Given the description of an element on the screen output the (x, y) to click on. 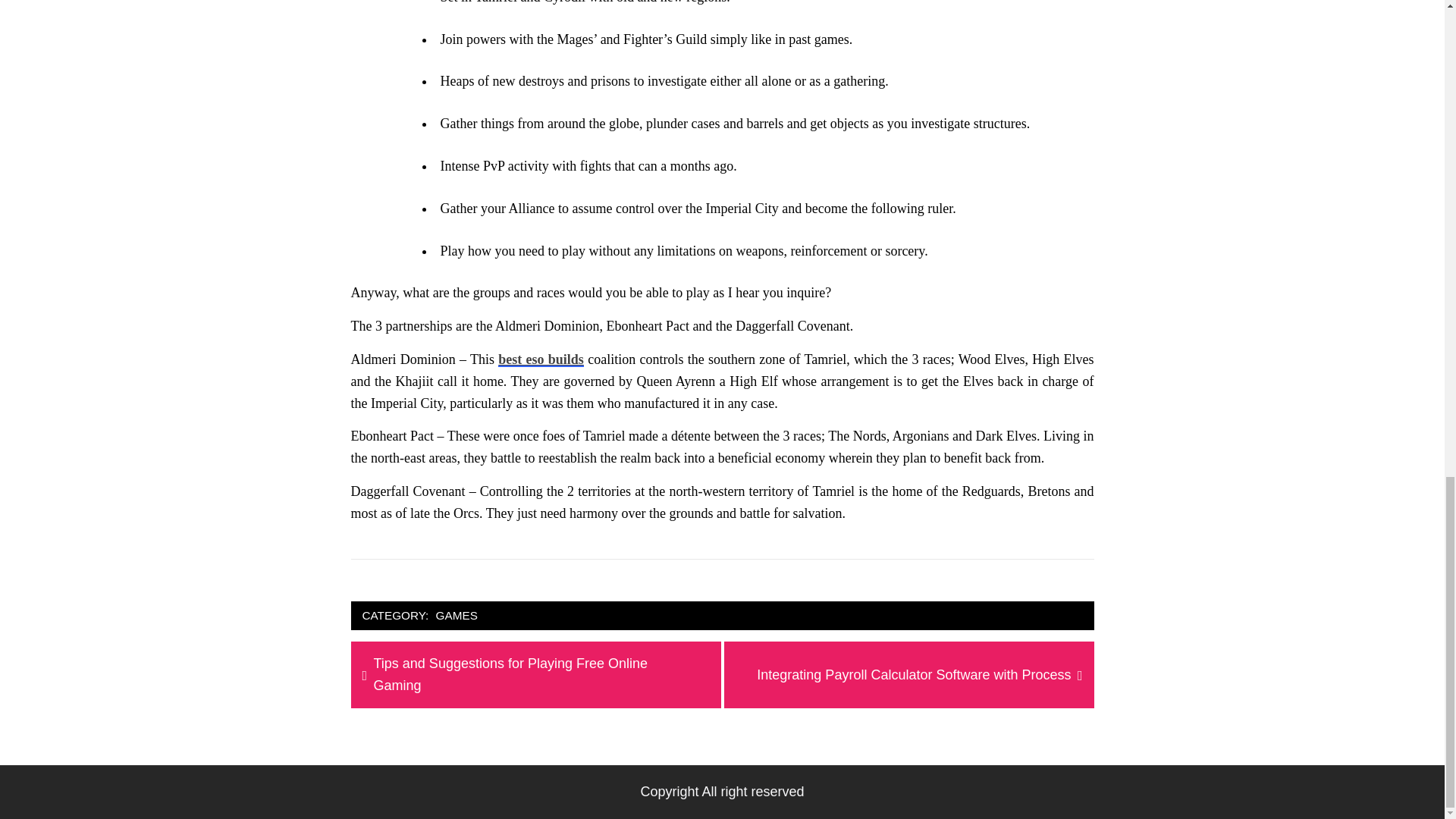
GAMES (456, 615)
best eso builds (540, 359)
